Given the description of an element on the screen output the (x, y) to click on. 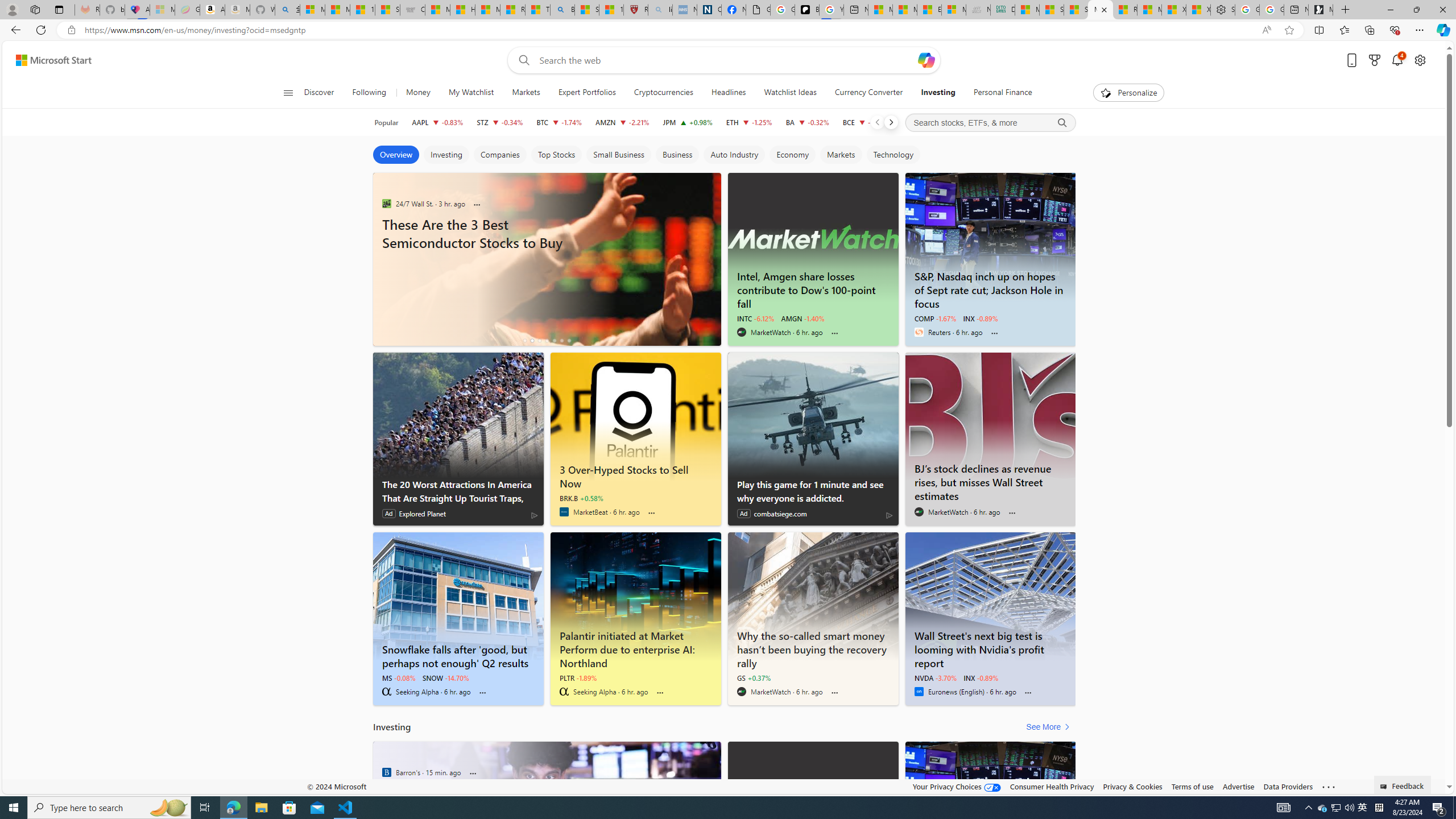
BRK.B +0.58% (580, 497)
Search stocks, ETFs, & more (989, 122)
Google Analytics Opt-out Browser Add-on Download Page (757, 9)
24/7 Wall St. (386, 203)
